Given the description of an element on the screen output the (x, y) to click on. 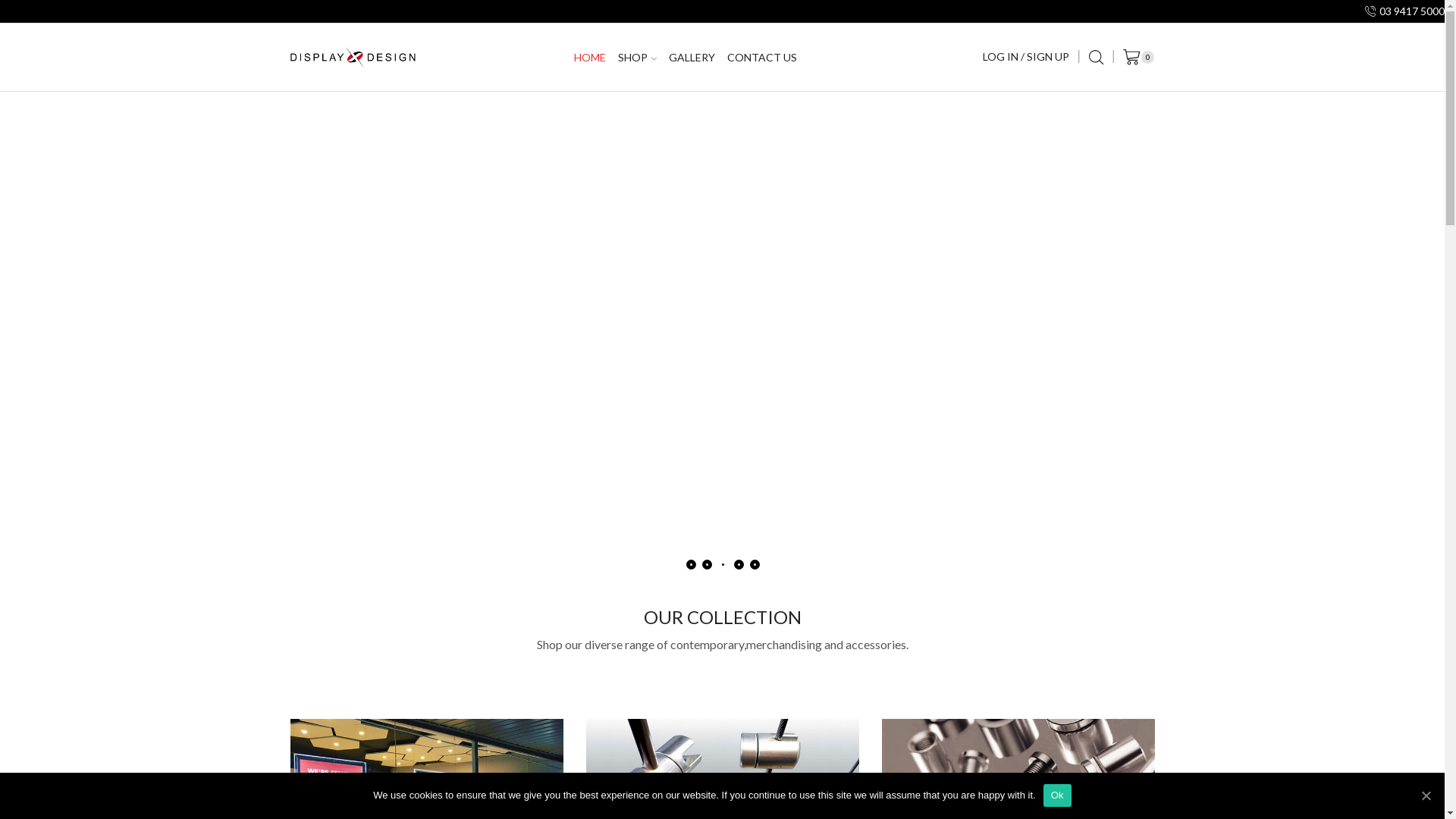
GALLERY Element type: text (691, 56)
HOME Element type: text (589, 56)
Ok Element type: text (1057, 795)
SHOP Element type: text (637, 56)
CONTACT US Element type: text (762, 56)
0 Element type: text (1138, 56)
Log in Element type: text (1024, 258)
LOG IN / SIGN UP Element type: text (1025, 56)
